Given the description of an element on the screen output the (x, y) to click on. 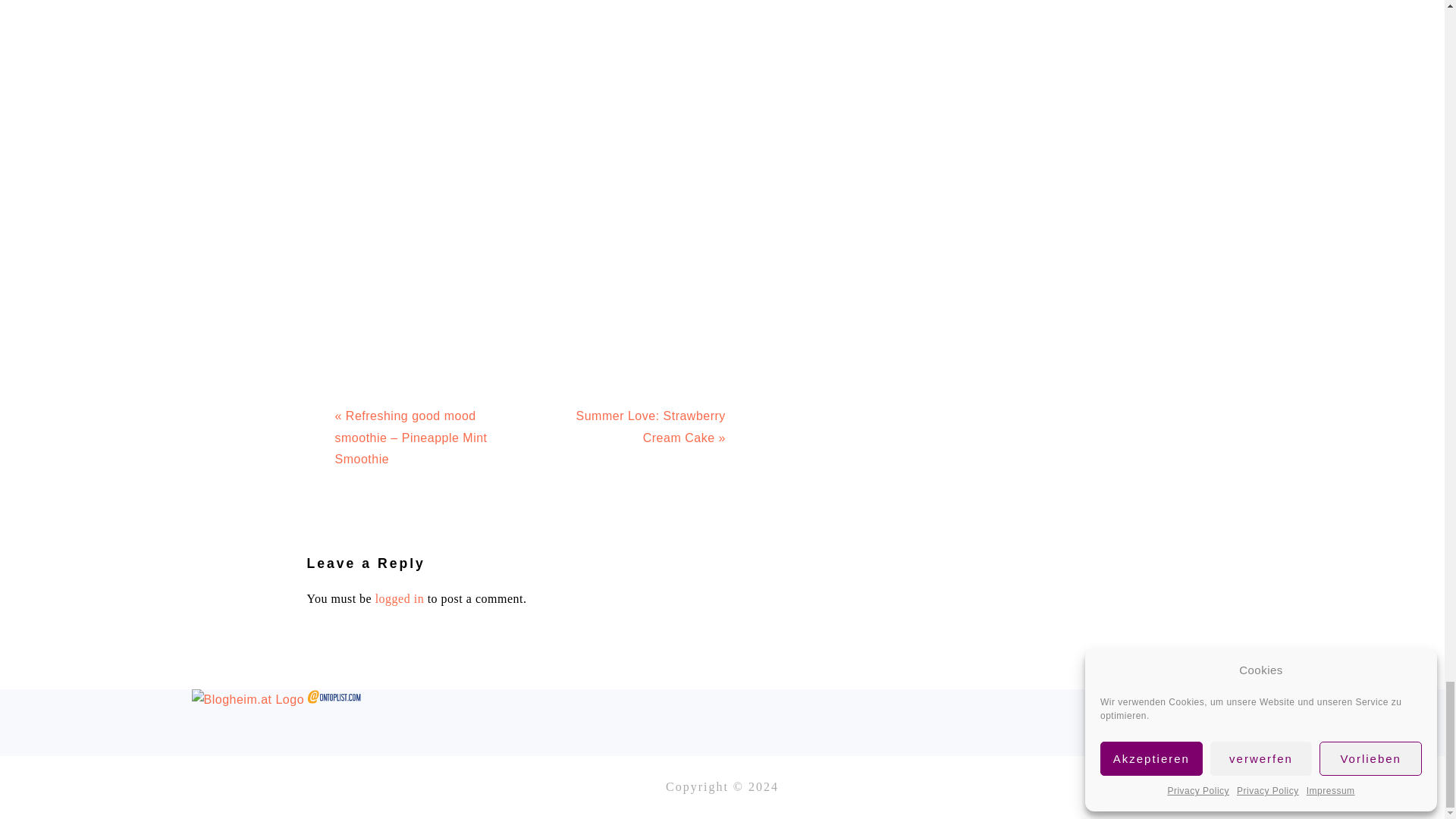
logged in (400, 598)
zur Website Blogheim.at (247, 698)
